Given the description of an element on the screen output the (x, y) to click on. 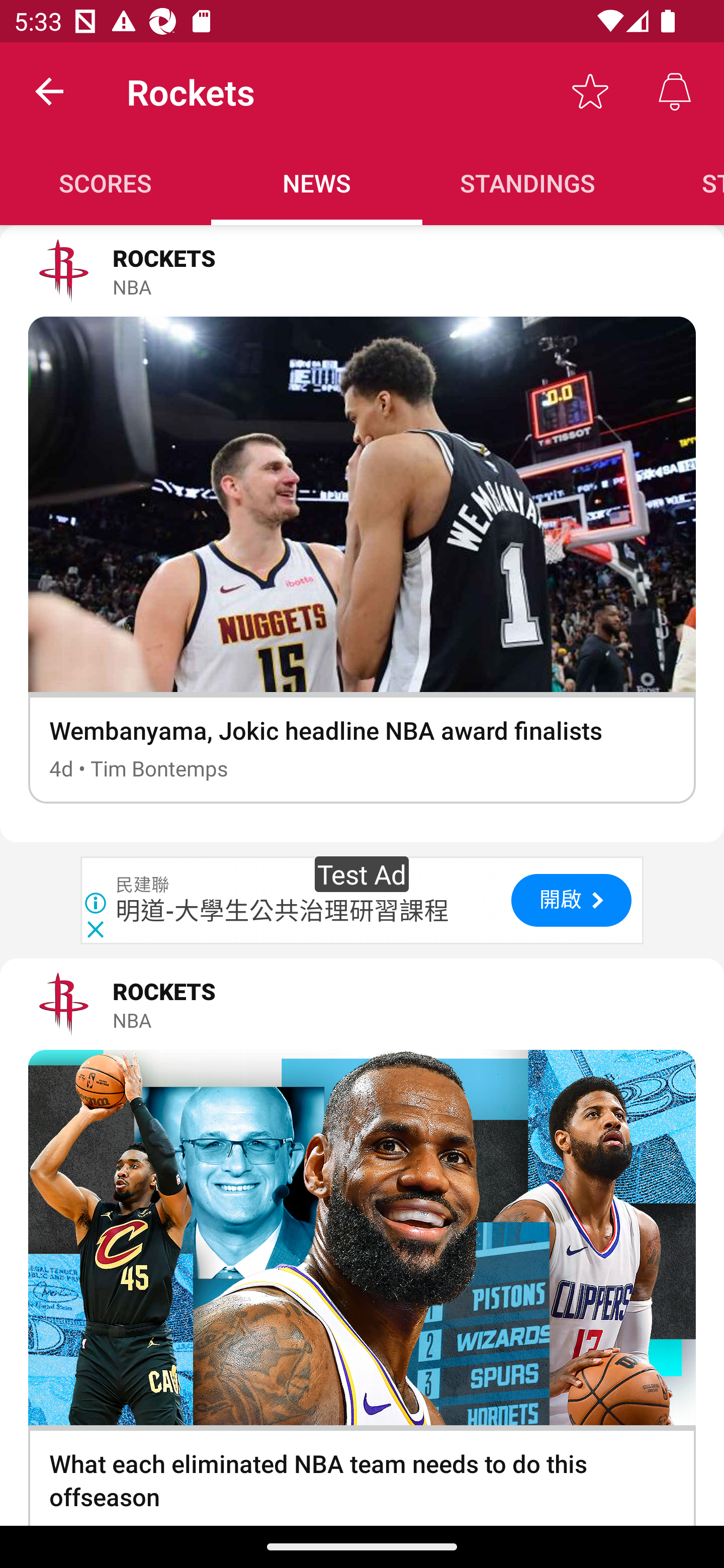
back.button (49, 90)
Favorite toggle (590, 90)
Alerts (674, 90)
Scores SCORES (105, 183)
Standings STANDINGS (527, 183)
ROCKETS NBA (362, 270)
民建聯 (142, 884)
開啟 (570, 899)
明道-大學生公共治理研習課程 (282, 910)
ROCKETS NBA (362, 1004)
